Given the description of an element on the screen output the (x, y) to click on. 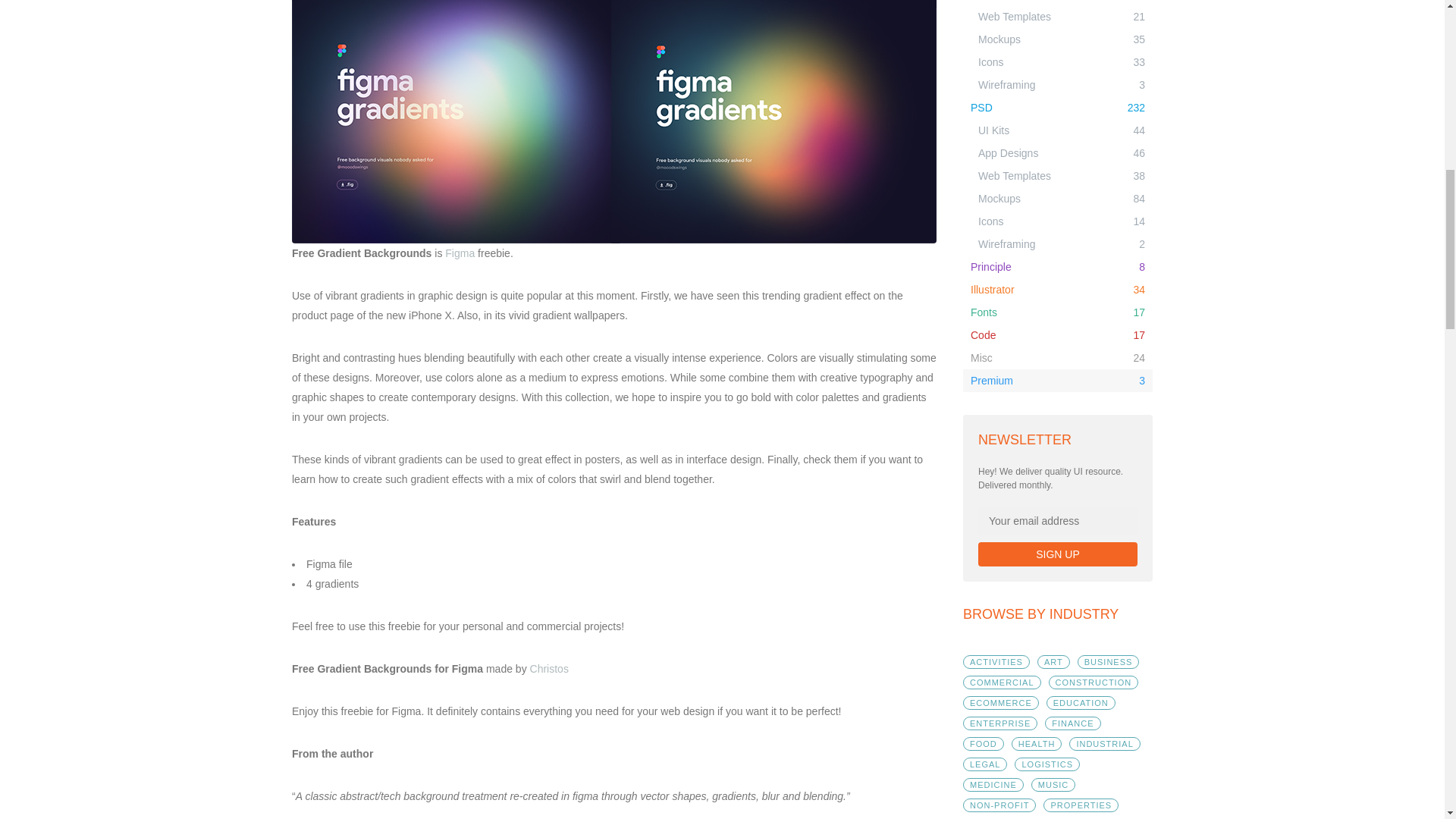
Sign up (1057, 554)
